Given the description of an element on the screen output the (x, y) to click on. 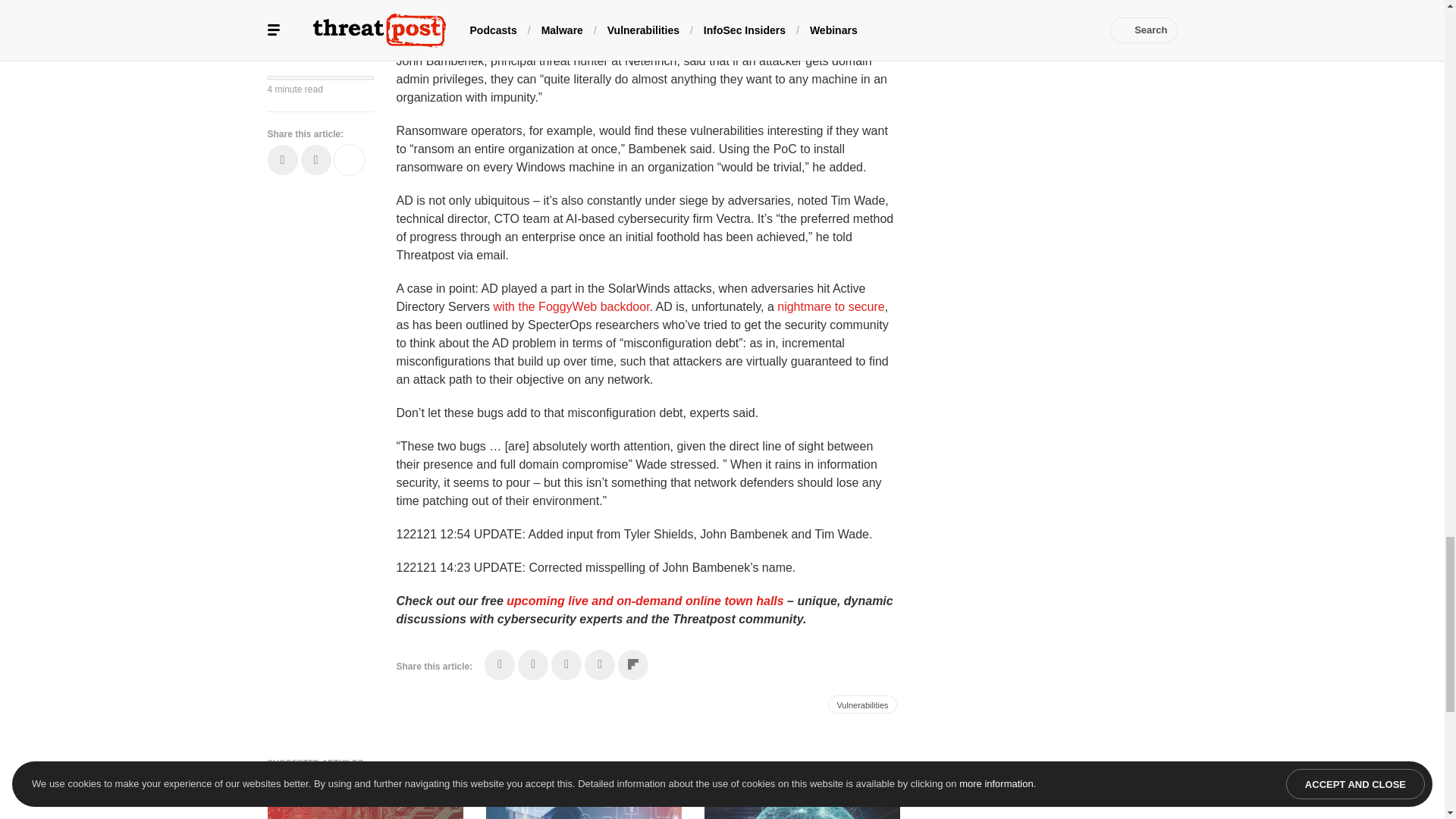
Share via Twitter (533, 665)
Share via LinkedIn (565, 665)
Share via Flipboard (632, 665)
Share via Facebook (499, 665)
Share via Reddit (599, 665)
with the FoggyWeb backdoor (571, 306)
